Given the description of an element on the screen output the (x, y) to click on. 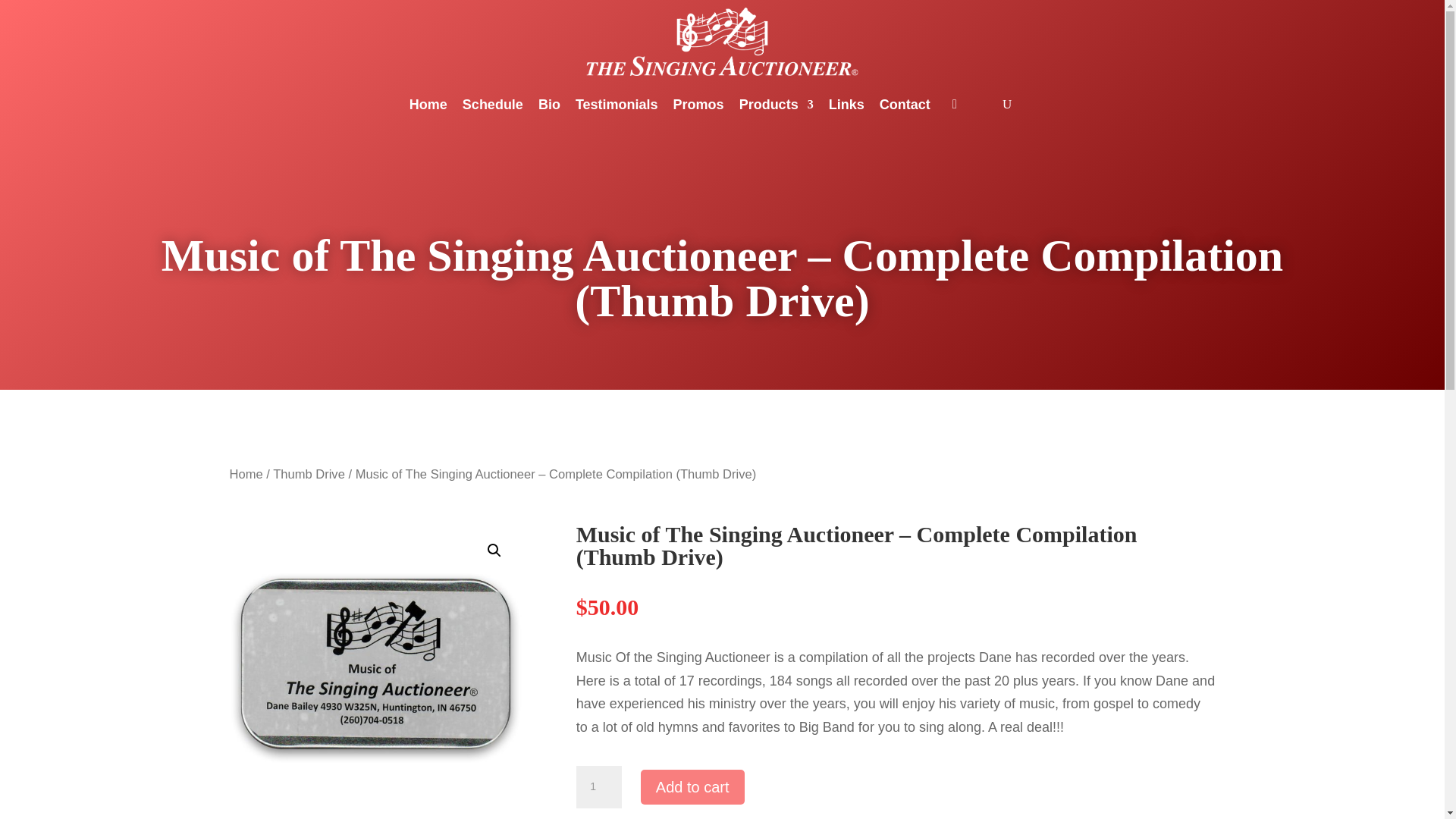
Links (846, 104)
Promos (697, 104)
Products (776, 104)
Home (427, 104)
Home (245, 473)
Qty (598, 786)
Testimonials (616, 104)
Thumb Drive (309, 473)
Add to cart (692, 786)
1 (598, 786)
Music of the Singing Auctioneer Memory Stick (374, 669)
Bio (549, 104)
Contact (904, 104)
Schedule (492, 104)
